Given the description of an element on the screen output the (x, y) to click on. 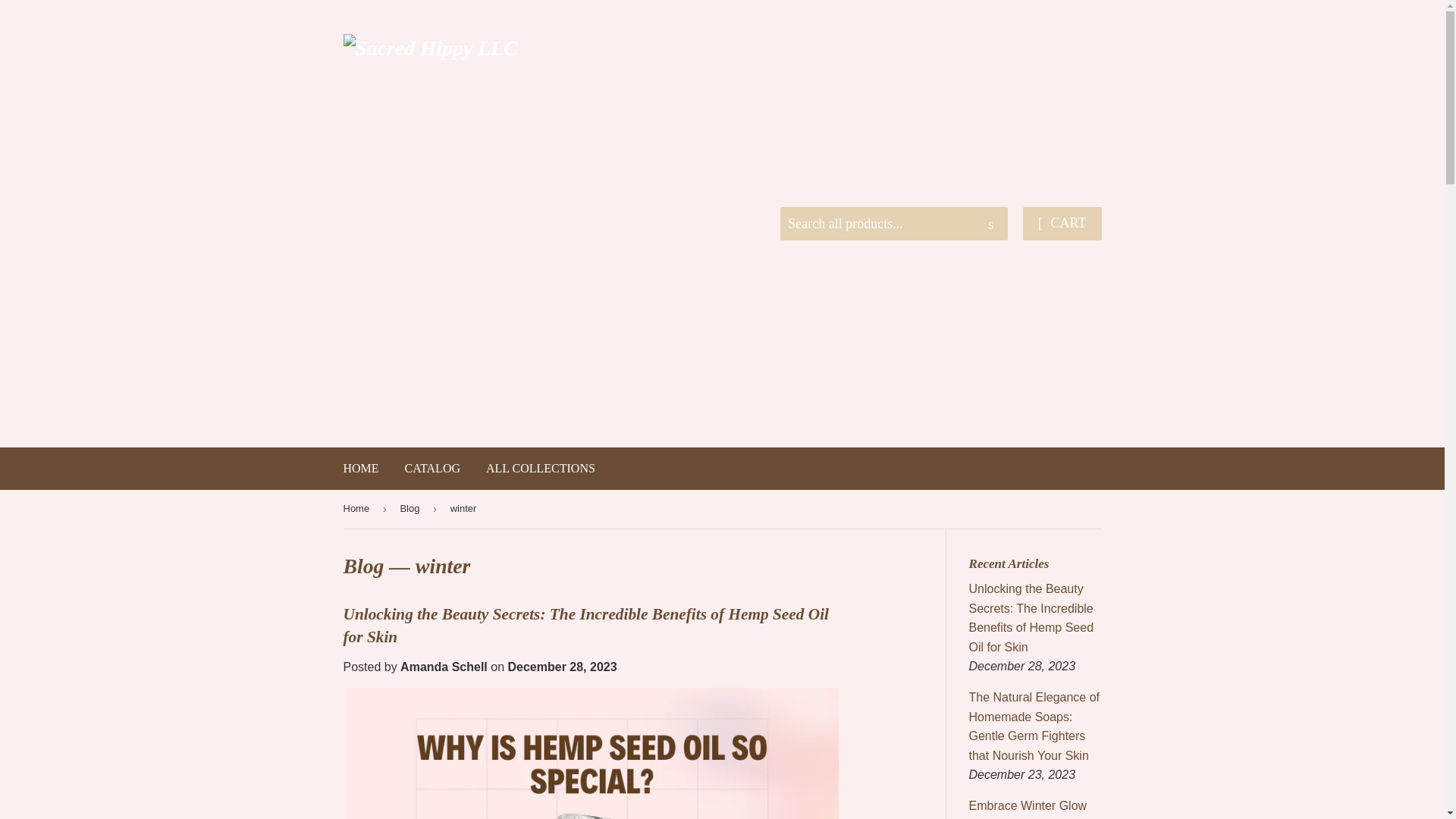
CART (1062, 223)
ALL COLLECTIONS (540, 468)
Blog (363, 566)
HOME (360, 468)
Search (990, 224)
CATALOG (432, 468)
